Given the description of an element on the screen output the (x, y) to click on. 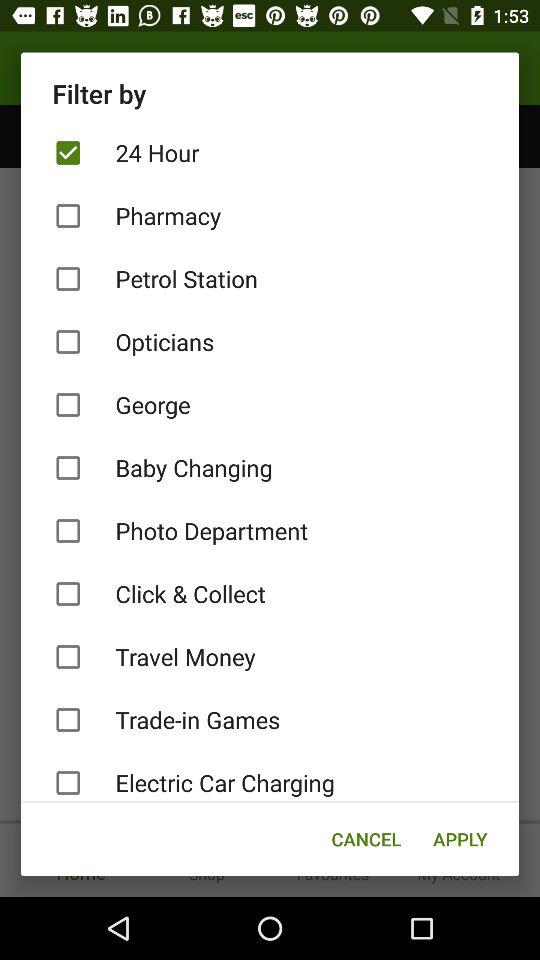
open icon below the electric car charging (460, 838)
